Given the description of an element on the screen output the (x, y) to click on. 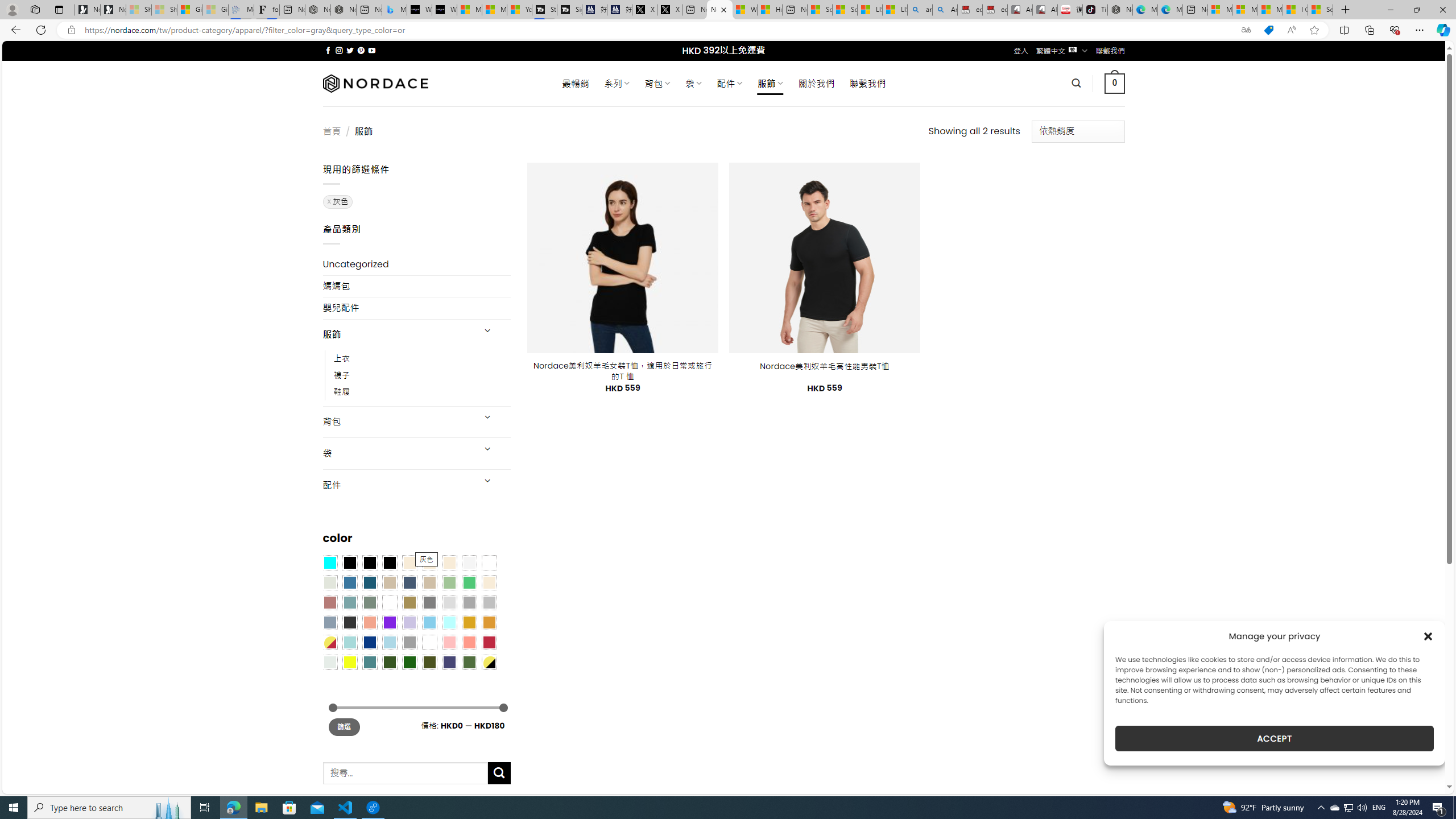
Nordace - Best Sellers (1119, 9)
Cream (449, 562)
Show translate options (1245, 29)
